Given the description of an element on the screen output the (x, y) to click on. 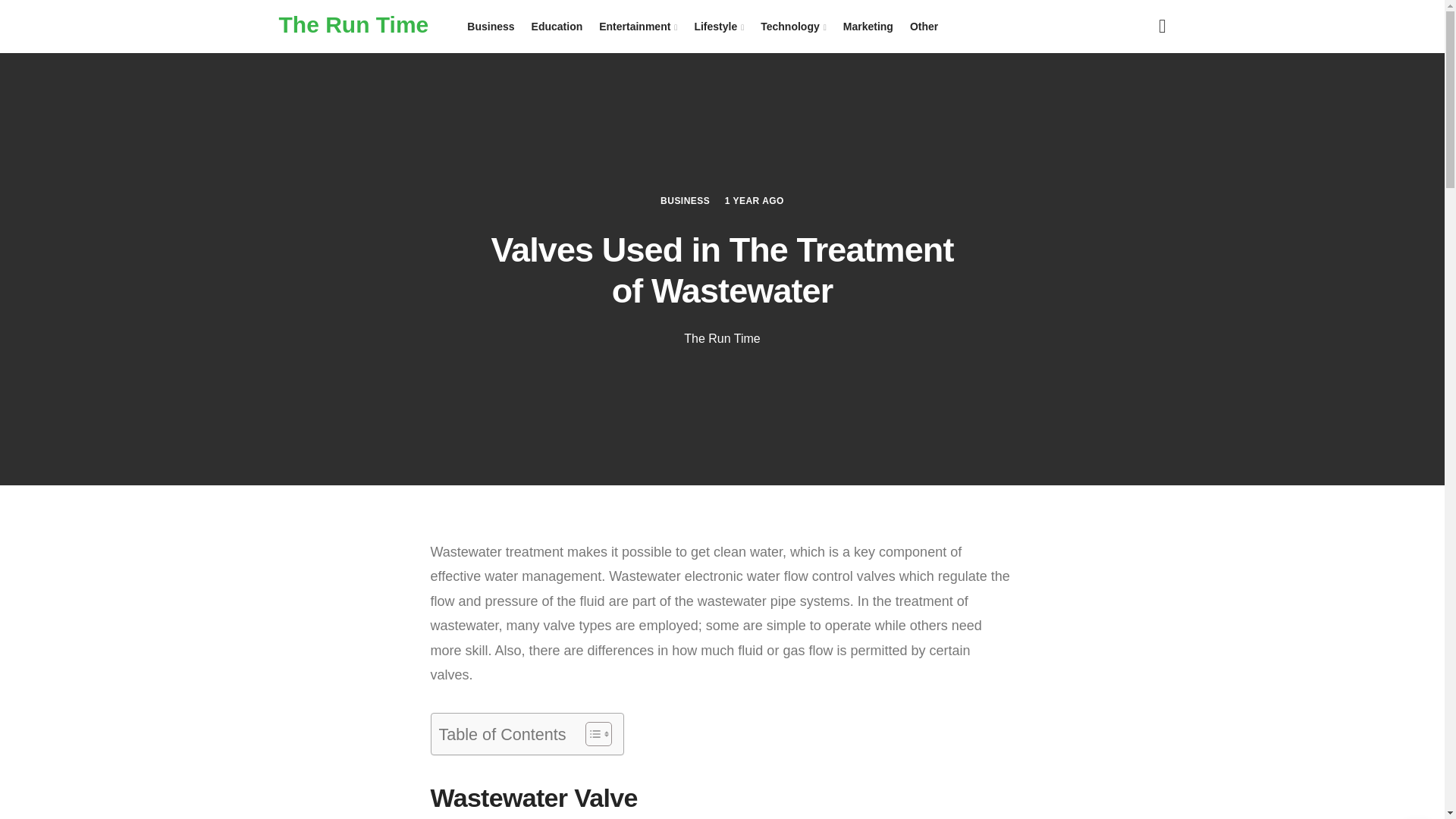
The Run Time (722, 338)
Education (556, 26)
Entertainment (638, 26)
The Run Time (354, 24)
Business (490, 26)
Technology (793, 26)
BUSINESS (685, 201)
Marketing (867, 26)
Lifestyle (718, 26)
